Given the description of an element on the screen output the (x, y) to click on. 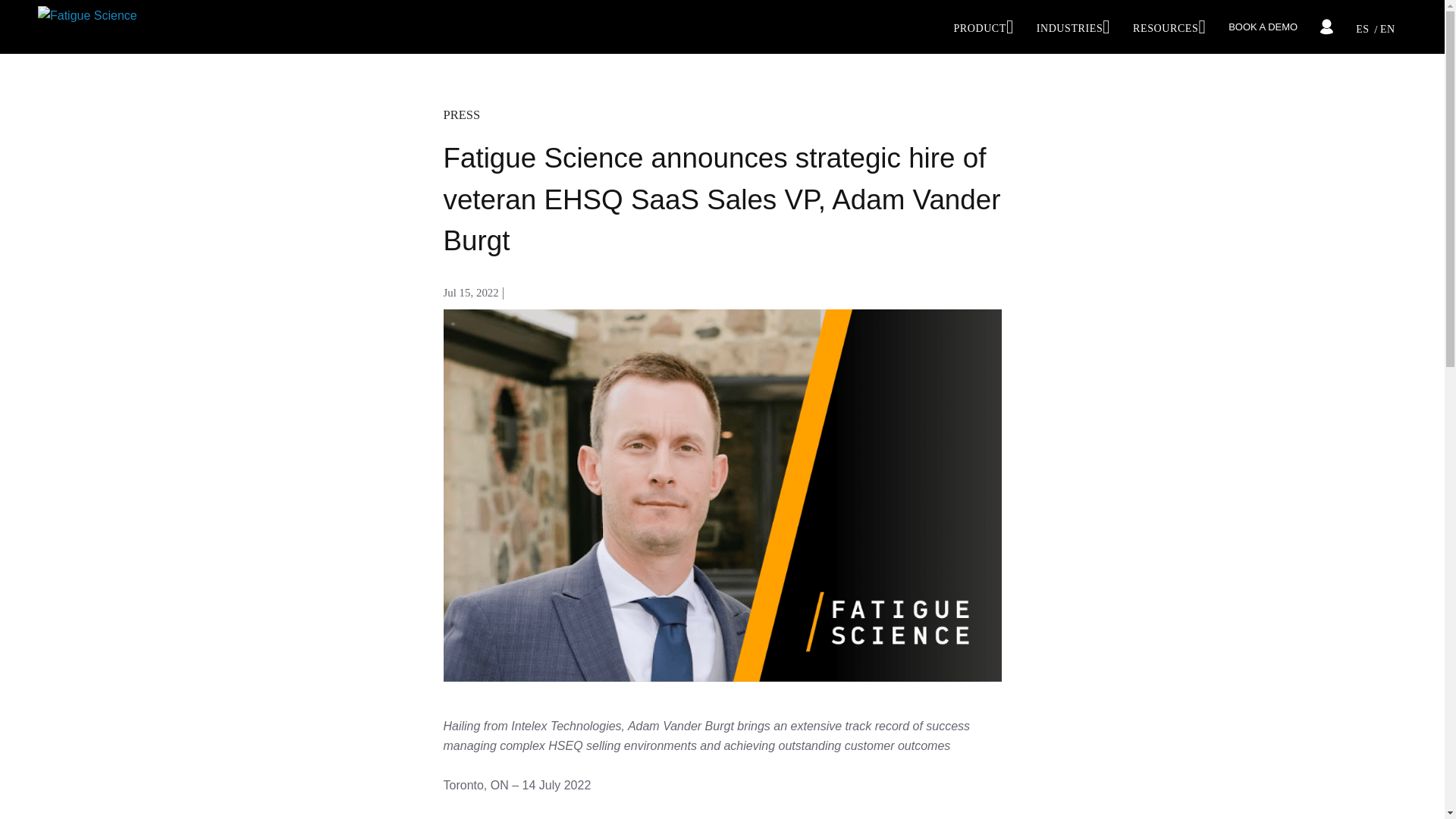
PRODUCT (983, 28)
INDUSTRIES (1073, 28)
BOOK A DEMO (1262, 27)
RESOURCES (1169, 28)
PRESS (461, 114)
Fatigue Science (86, 26)
